Given the description of an element on the screen output the (x, y) to click on. 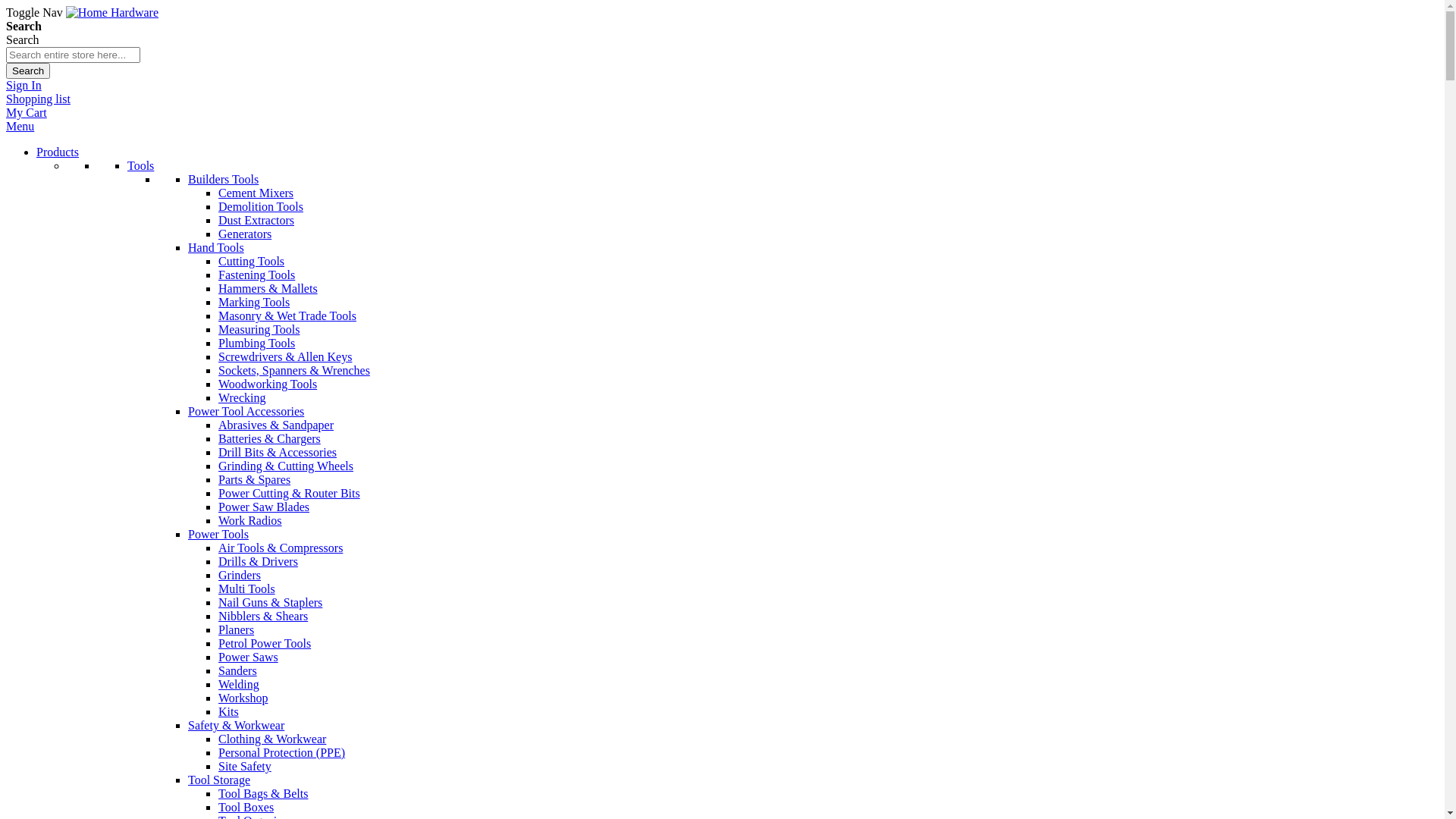
Multi Tools Element type: text (246, 588)
My Cart Element type: text (26, 112)
Dust Extractors Element type: text (256, 219)
Hammers & Mallets Element type: text (267, 288)
Fastening Tools Element type: text (256, 274)
Wrecking Element type: text (241, 397)
Shopping list Element type: text (38, 98)
Tools Element type: text (140, 165)
Products Element type: text (57, 151)
Home Hardware Element type: hover (111, 12)
Masonry & Wet Trade Tools Element type: text (287, 315)
Sanders Element type: text (237, 670)
Kits Element type: text (228, 711)
Tool Boxes Element type: text (245, 806)
Demolition Tools Element type: text (260, 206)
Drills & Drivers Element type: text (258, 561)
Menu Element type: text (20, 125)
Power Tools Element type: text (218, 533)
Safety & Workwear Element type: text (236, 724)
Search Element type: text (28, 70)
Planers Element type: text (236, 629)
Sign In Element type: text (23, 84)
Nibblers & Shears Element type: text (262, 615)
Grinding & Cutting Wheels Element type: text (285, 465)
Personal Protection (PPE) Element type: text (281, 752)
Sockets, Spanners & Wrenches Element type: text (294, 370)
Woodworking Tools Element type: text (267, 383)
Cutting Tools Element type: text (251, 260)
Home Hardware Element type: hover (111, 12)
Drill Bits & Accessories Element type: text (277, 451)
Site Safety Element type: text (244, 765)
Hand Tools Element type: text (216, 247)
Power Saws Element type: text (248, 656)
Air Tools & Compressors Element type: text (280, 547)
Clothing & Workwear Element type: text (272, 738)
Nail Guns & Staplers Element type: text (270, 602)
Builders Tools Element type: text (223, 178)
Work Radios Element type: text (250, 520)
Tool Storage Element type: text (219, 779)
Petrol Power Tools Element type: text (264, 643)
Generators Element type: text (244, 233)
Tool Bags & Belts Element type: text (262, 793)
Grinders Element type: text (239, 574)
Screwdrivers & Allen Keys Element type: text (284, 356)
Marking Tools Element type: text (253, 301)
Power Saw Blades Element type: text (263, 506)
Power Tool Accessories Element type: text (246, 410)
Parts & Spares Element type: text (254, 479)
Batteries & Chargers Element type: text (269, 438)
Measuring Tools Element type: text (258, 329)
Power Cutting & Router Bits Element type: text (289, 492)
Abrasives & Sandpaper Element type: text (275, 424)
Cement Mixers Element type: text (255, 192)
Workshop Element type: text (242, 697)
Welding Element type: text (238, 683)
Plumbing Tools Element type: text (256, 342)
